Given the description of an element on the screen output the (x, y) to click on. 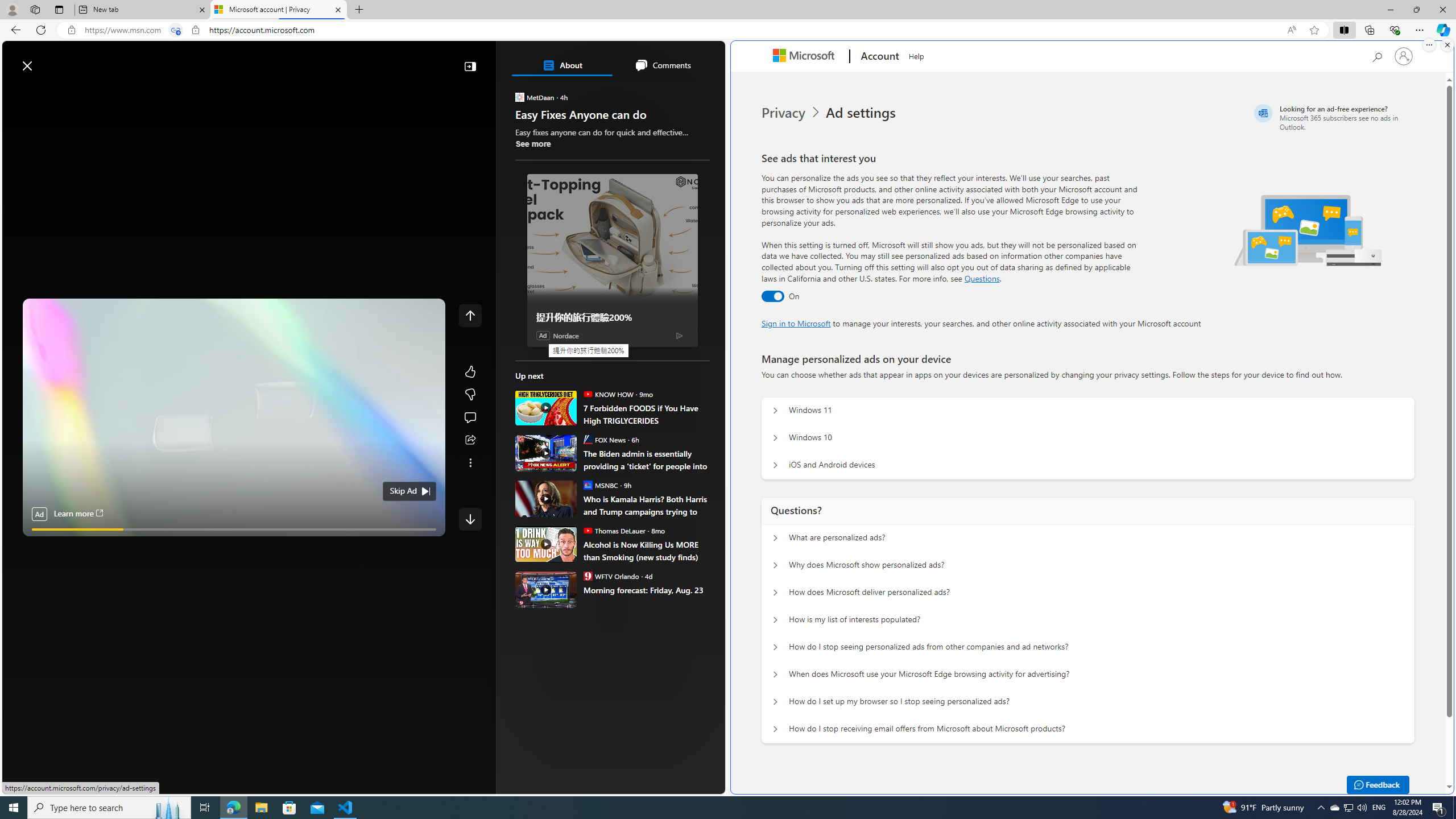
FOX News (587, 438)
Class: control (469, 518)
Comments (662, 64)
KNOW HOW KNOW HOW (607, 393)
Summer Sale! Up to -55% (616, 571)
Thomas DeLauer Thomas DeLauer (613, 529)
